Given the description of an element on the screen output the (x, y) to click on. 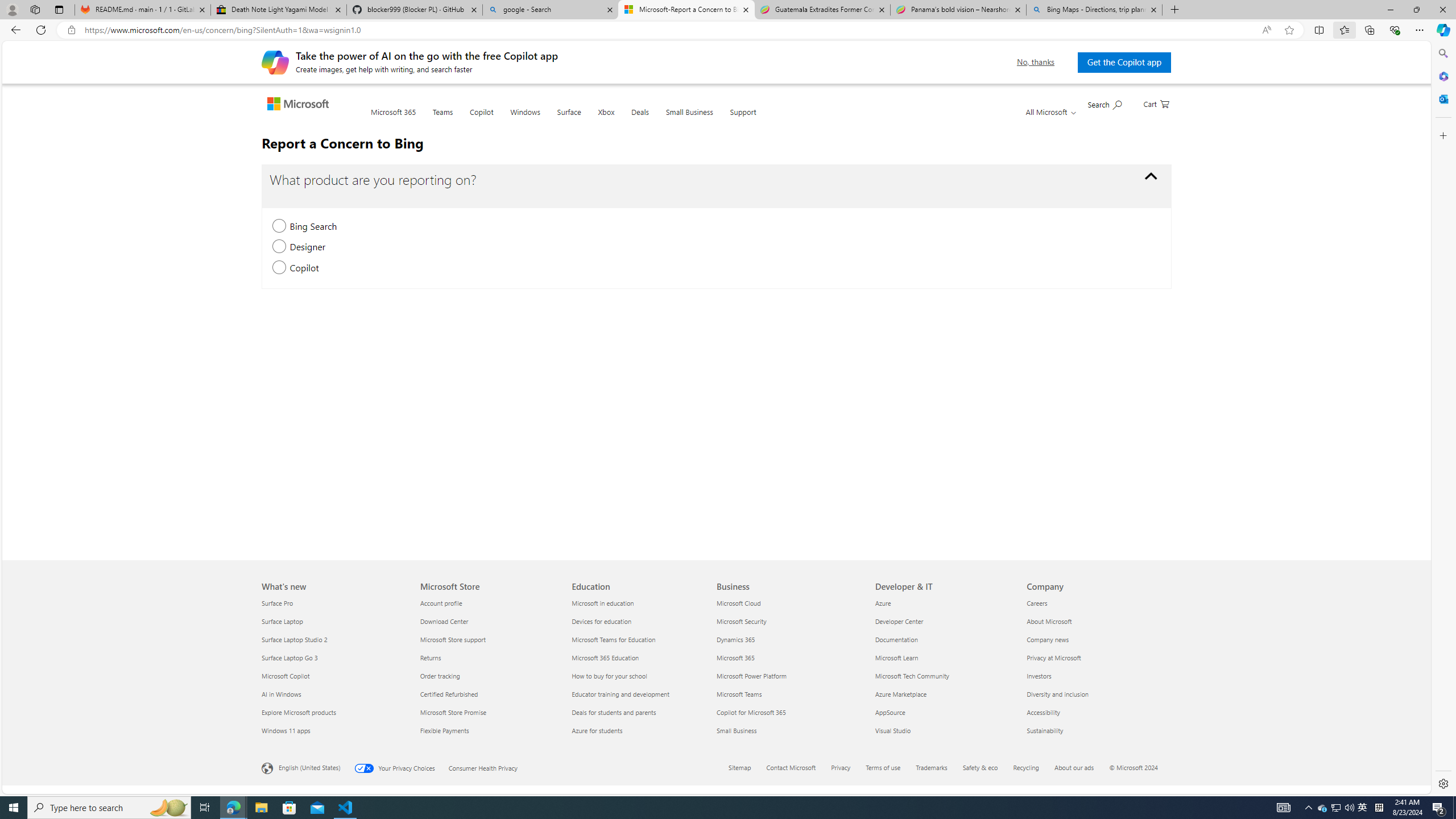
Microsoft in education (641, 602)
AppSource Developer & IT (890, 711)
Microsoft Cloud (788, 602)
No, thanks (1035, 61)
Contact Microsoft (790, 766)
Outlook (1442, 98)
Privacy at Microsoft Company (1053, 656)
Devices for education (641, 620)
Microsoft Tech Community (944, 675)
Safety & eco (986, 768)
Xbox (606, 118)
Microsoft 365 Education (641, 657)
